Given the description of an element on the screen output the (x, y) to click on. 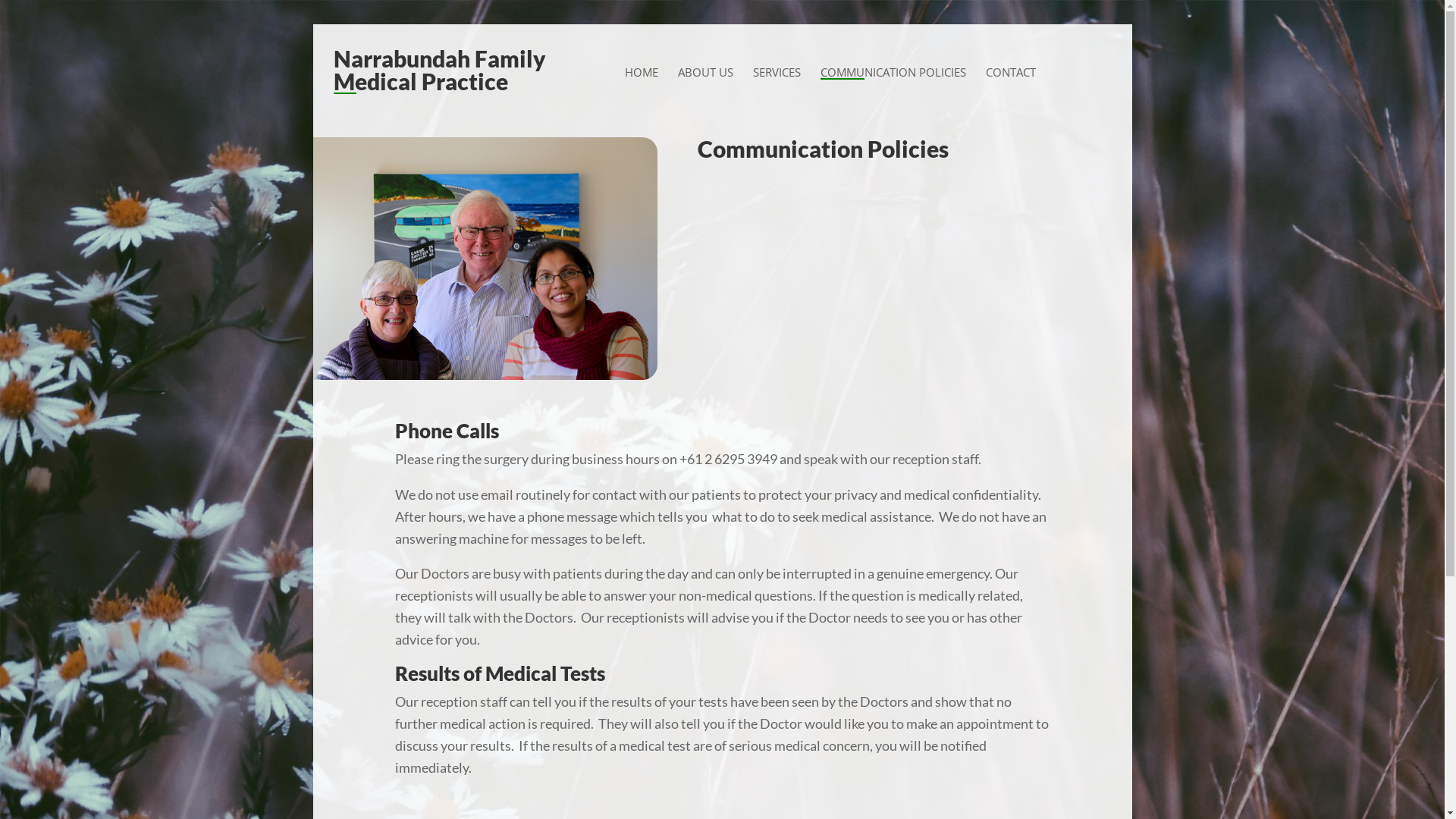
Doctor's Pocket Element type: hover (484, 258)
Narrabundah Family Medical Practice Element type: text (450, 74)
ABOUT US Element type: text (705, 72)
CONTACT Element type: text (1010, 72)
HOME Element type: text (641, 72)
COMMUNICATION POLICIES Element type: text (893, 72)
SERVICES Element type: text (776, 72)
